Given the description of an element on the screen output the (x, y) to click on. 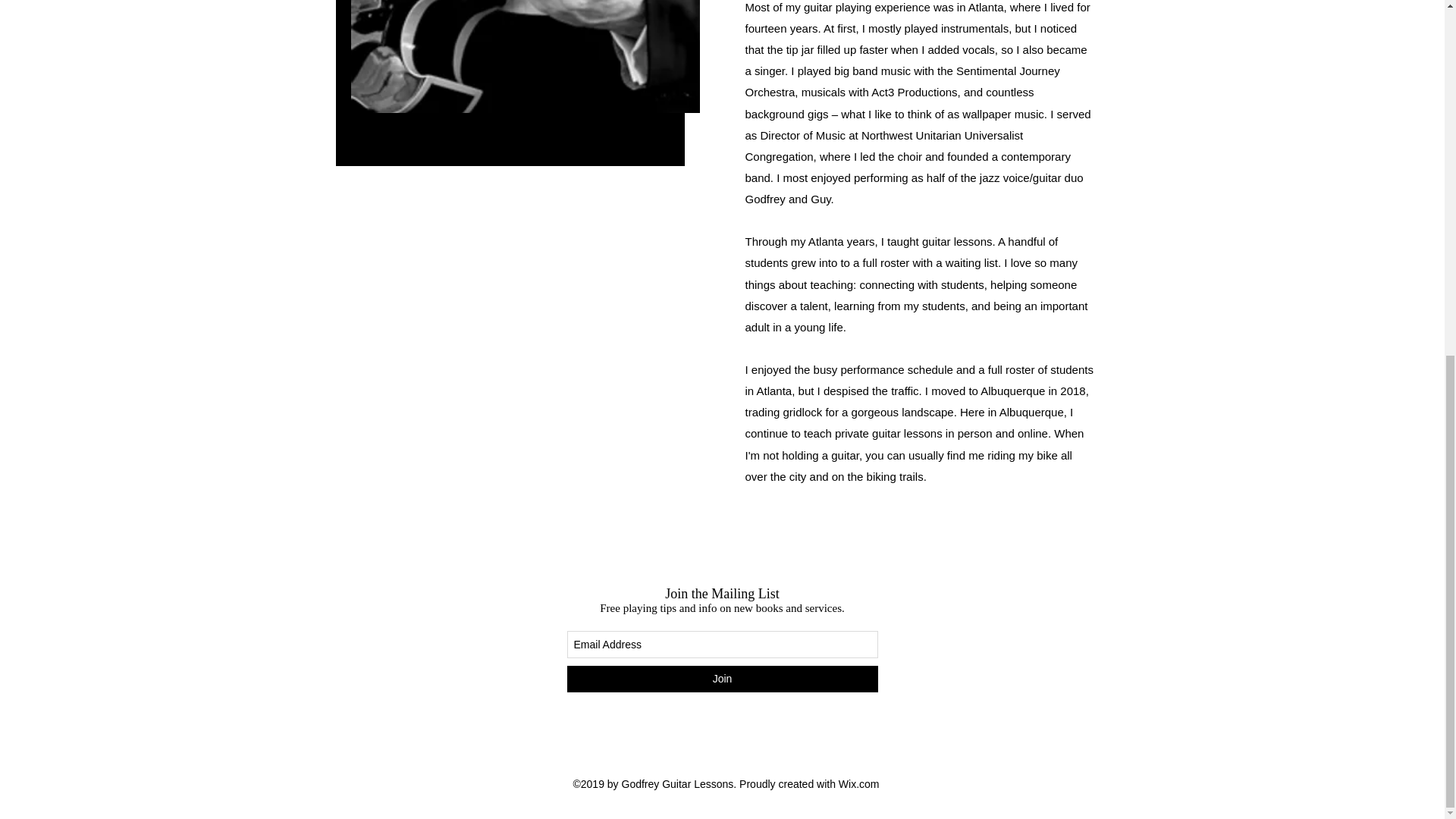
Join (722, 678)
